Given the description of an element on the screen output the (x, y) to click on. 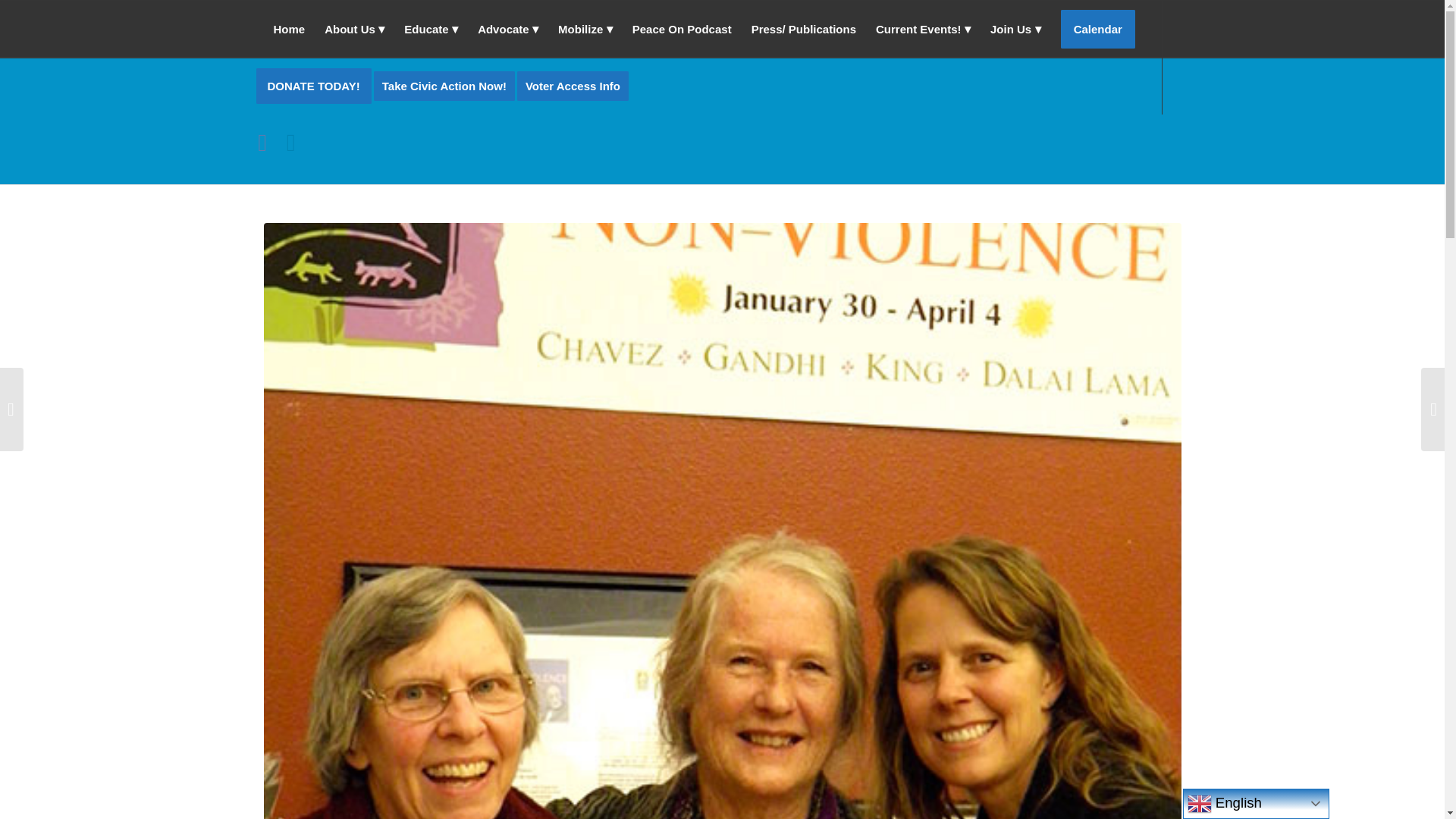
Advocate (507, 28)
Facebook (267, 141)
Mobilize (585, 28)
Home (289, 28)
Educate (430, 28)
About Us (354, 28)
X (290, 141)
Peace On Podcast (682, 28)
